Given the description of an element on the screen output the (x, y) to click on. 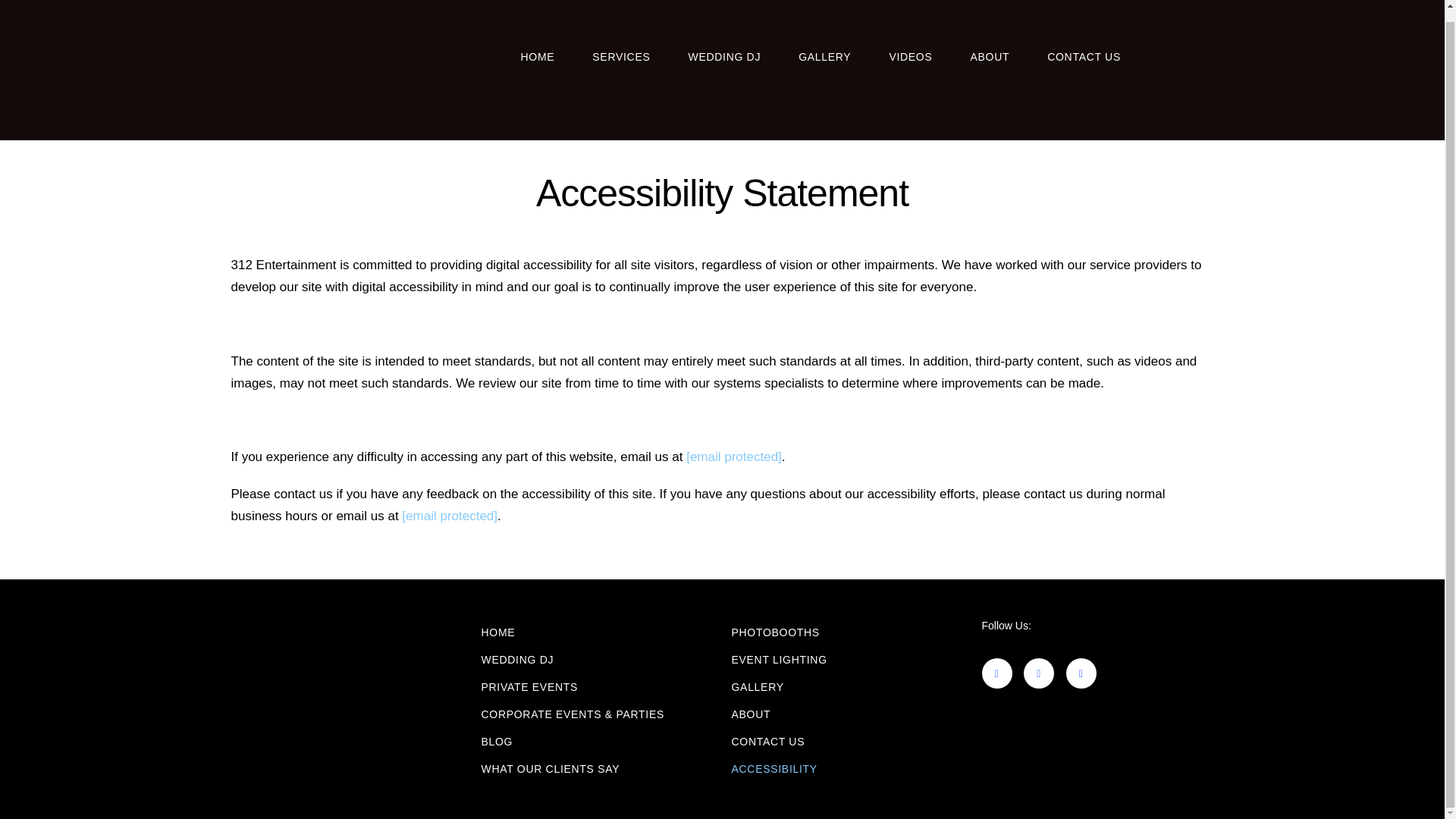
VIDEOS (909, 45)
ABOUT (989, 45)
HOME (536, 45)
WEDDING DJ (516, 659)
WEDDING DJ (723, 45)
CONTACT US (1083, 45)
HOME (497, 632)
GALLERY (823, 45)
SERVICES (620, 45)
